Given the description of an element on the screen output the (x, y) to click on. 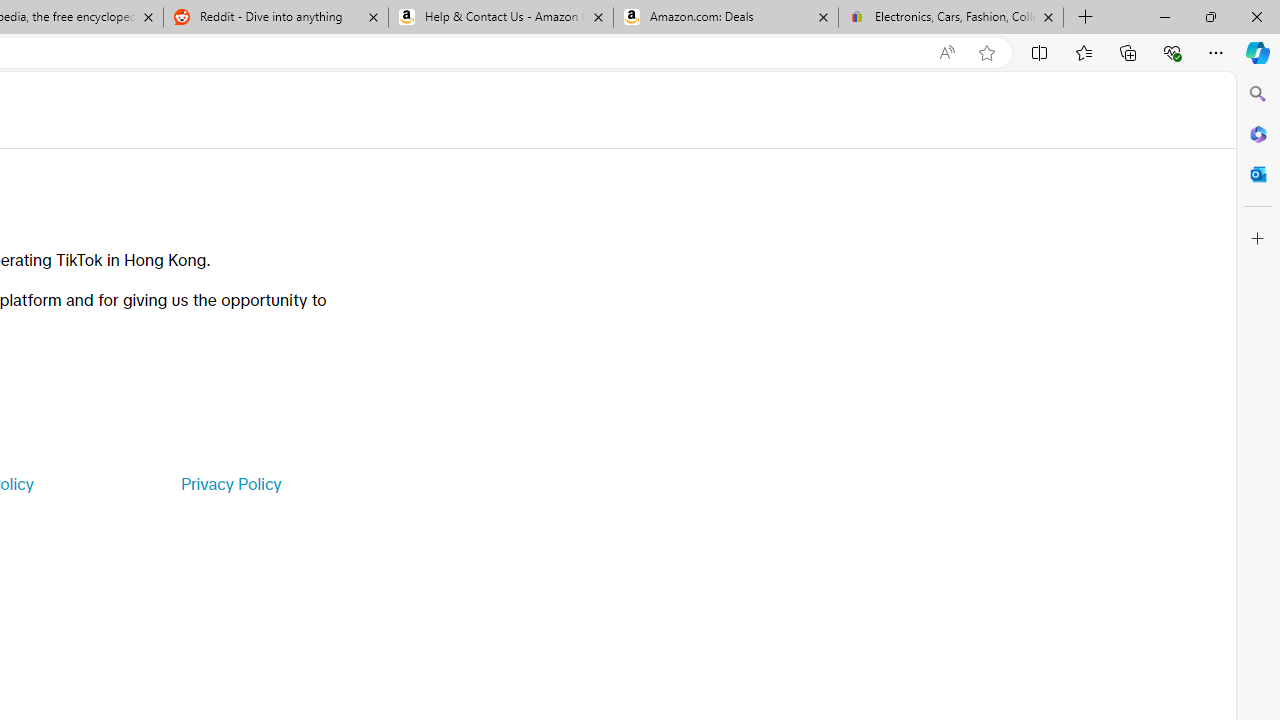
Customize (1258, 239)
Close Outlook pane (1258, 174)
Privacy Policy (230, 484)
Electronics, Cars, Fashion, Collectibles & More | eBay (950, 17)
Amazon.com: Deals (726, 17)
Reddit - Dive into anything (275, 17)
